Given the description of an element on the screen output the (x, y) to click on. 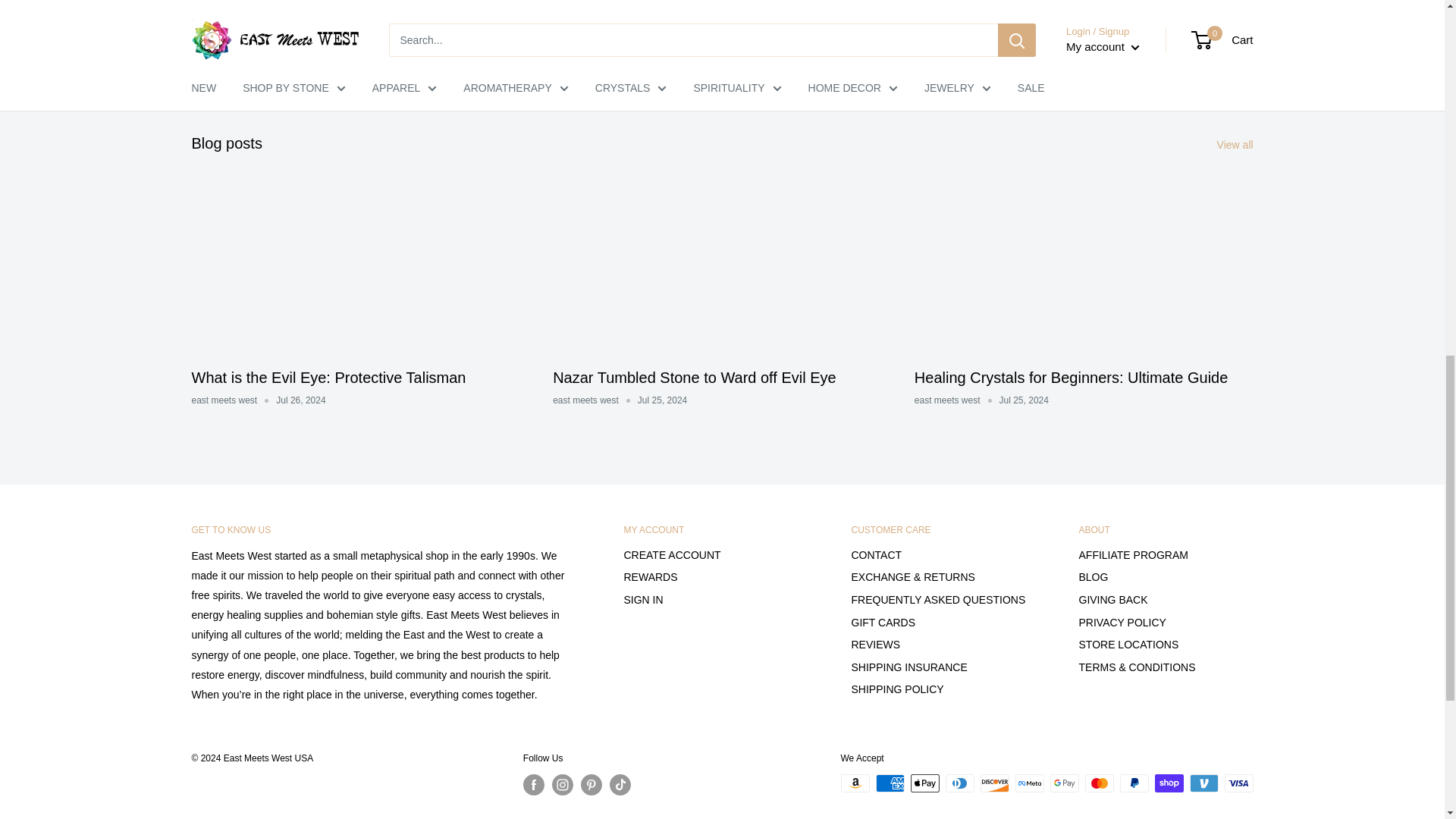
Add to wishlist (992, 43)
